Given the description of an element on the screen output the (x, y) to click on. 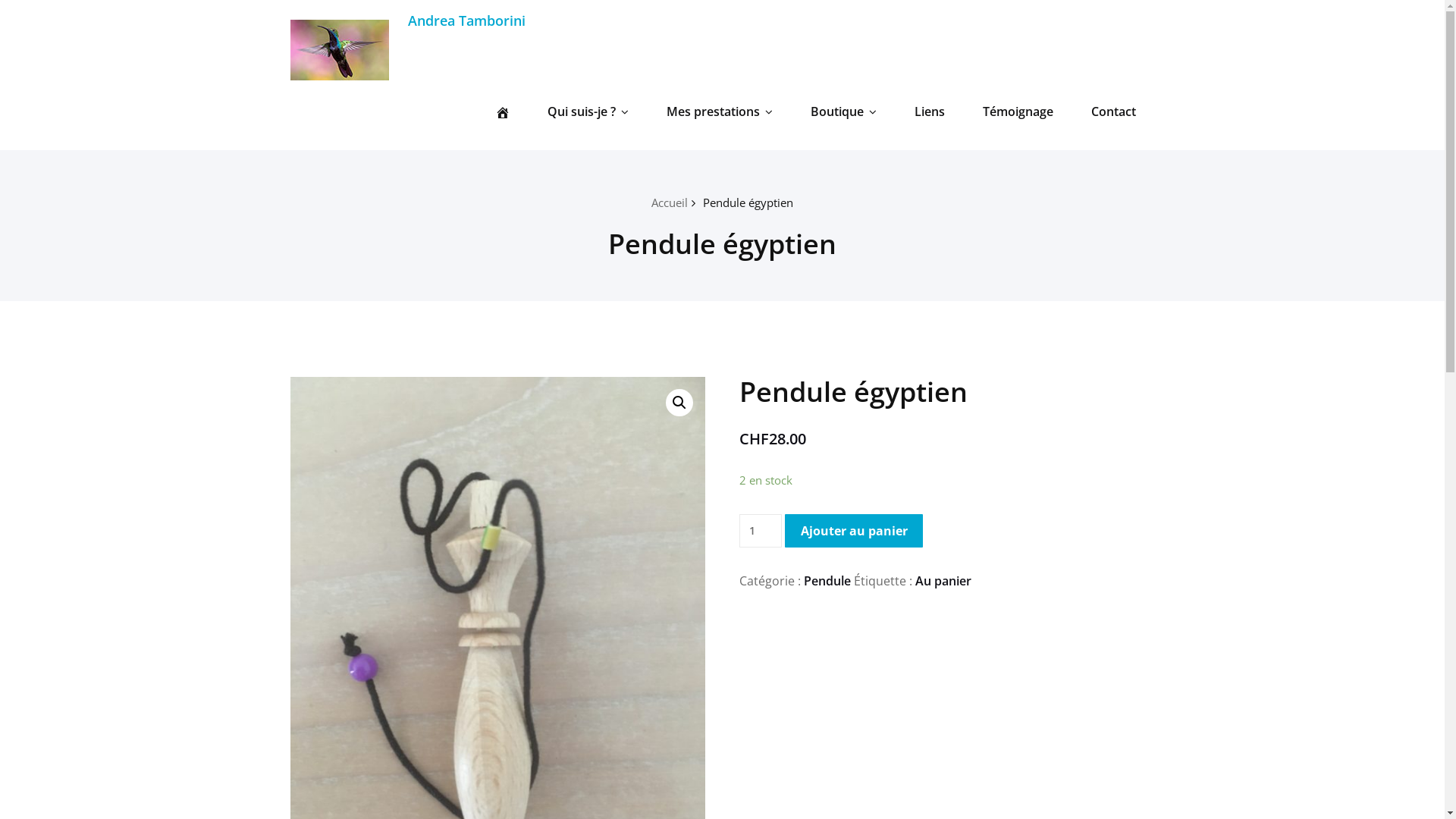
Boutique Element type: text (843, 111)
Au panier Element type: text (943, 580)
Mes prestations Element type: text (719, 111)
Liens Element type: text (928, 111)
Accueil Element type: text (669, 202)
Andrea Tamborini Element type: text (466, 20)
Qui suis-je ? Element type: text (587, 111)
Ajouter au panier Element type: text (853, 530)
Contact Element type: text (1113, 111)
Home Element type: text (501, 111)
Pendule Element type: text (826, 580)
